Given the description of an element on the screen output the (x, y) to click on. 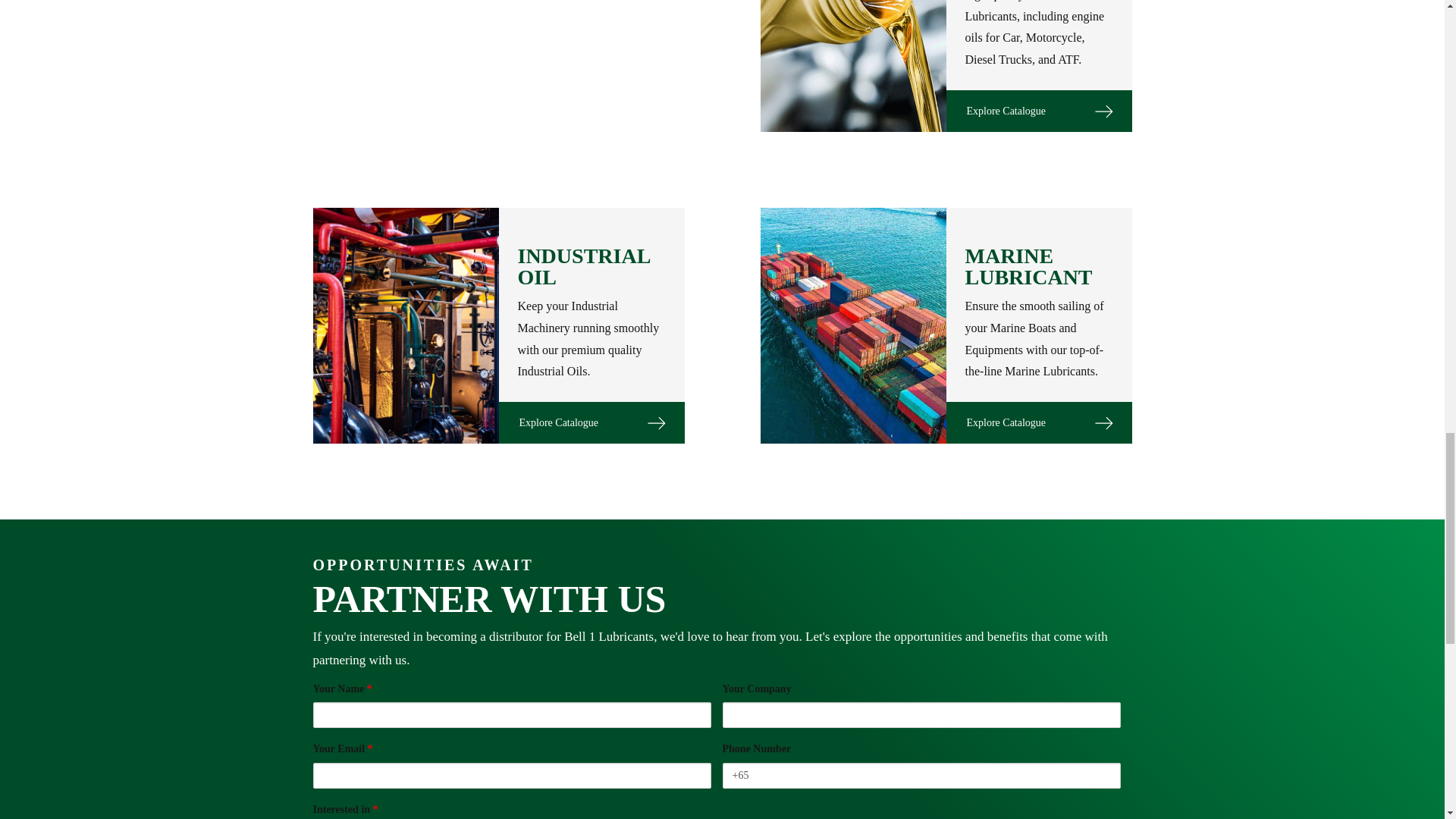
Explore Catalogue (1039, 422)
Explore Catalogue (1039, 110)
Explore Catalogue (591, 422)
